Given the description of an element on the screen output the (x, y) to click on. 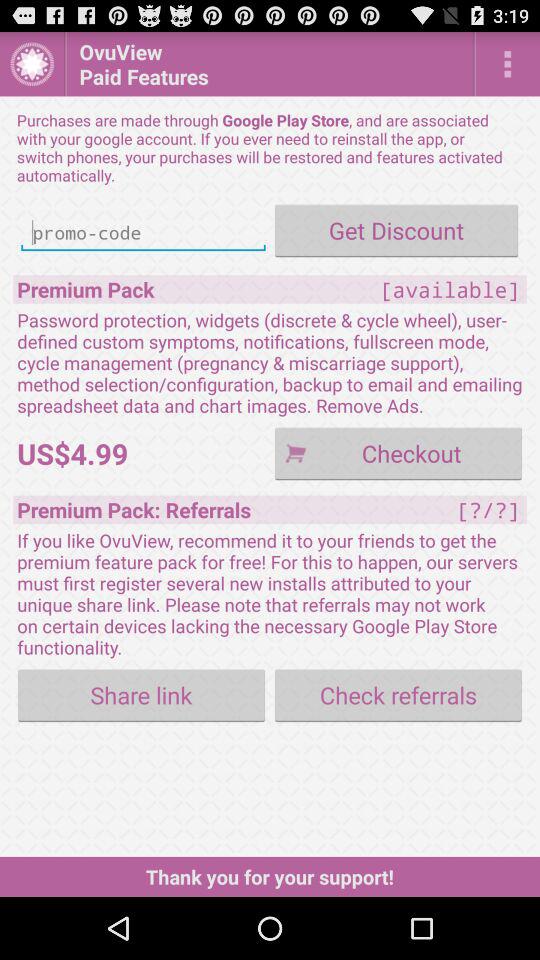
turn on the icon above the purchases are made icon (269, 63)
